Given the description of an element on the screen output the (x, y) to click on. 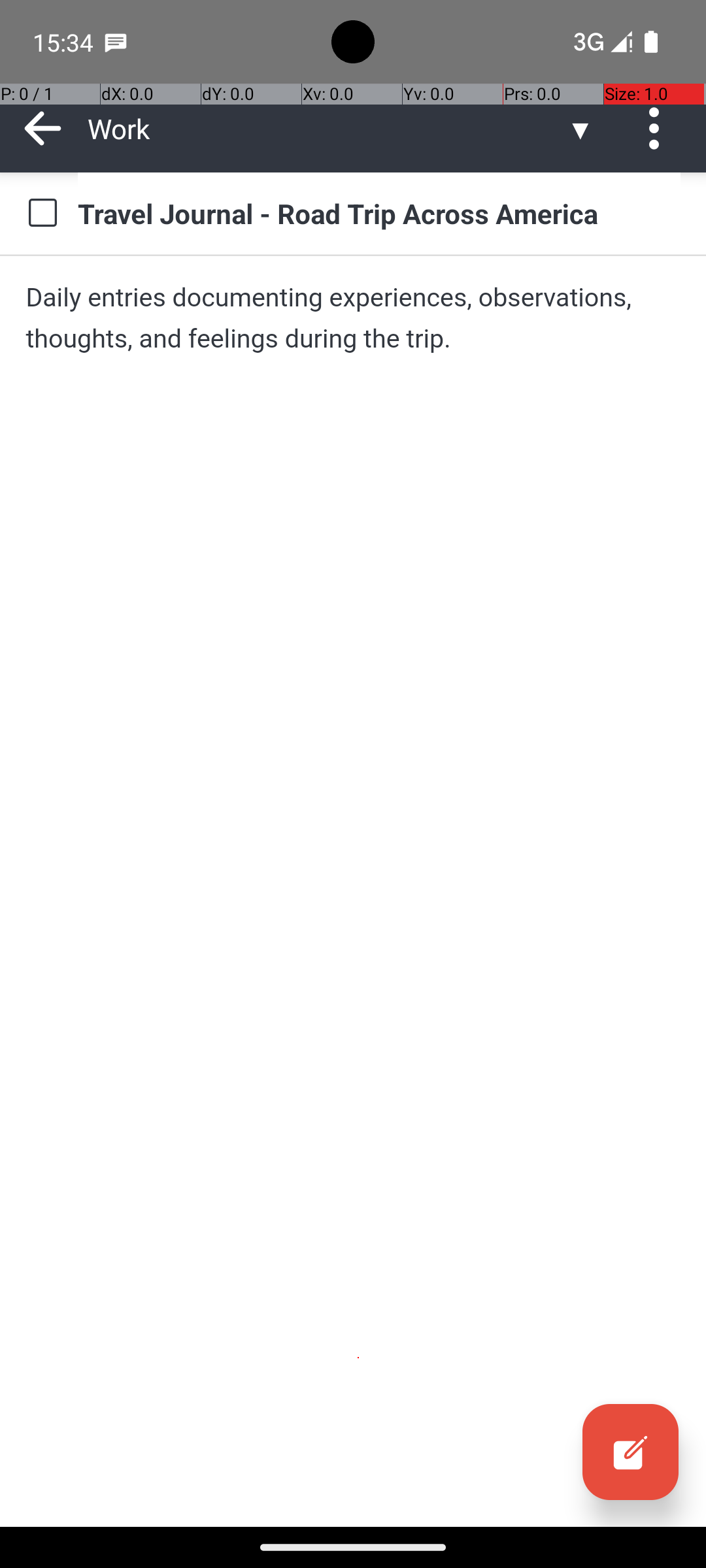
Travel Journal - Road Trip Across America Element type: android.widget.EditText (378, 213)
Work Element type: android.widget.TextView (326, 128)
Daily entries documenting experiences, observations, thoughts, and feelings during the trip. Element type: android.widget.TextView (352, 317)
